Given the description of an element on the screen output the (x, y) to click on. 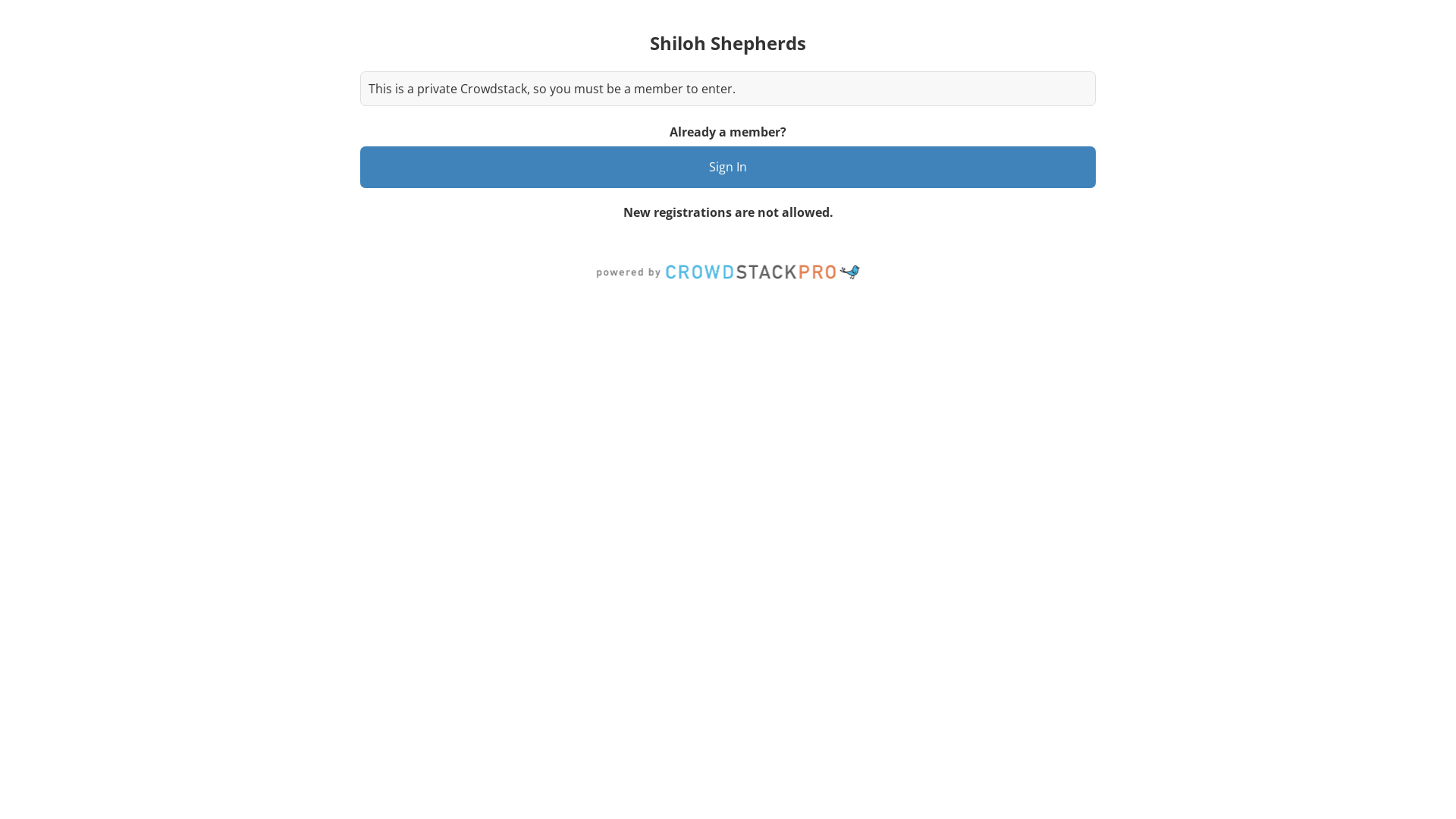
Sign In Element type: text (727, 167)
